Given the description of an element on the screen output the (x, y) to click on. 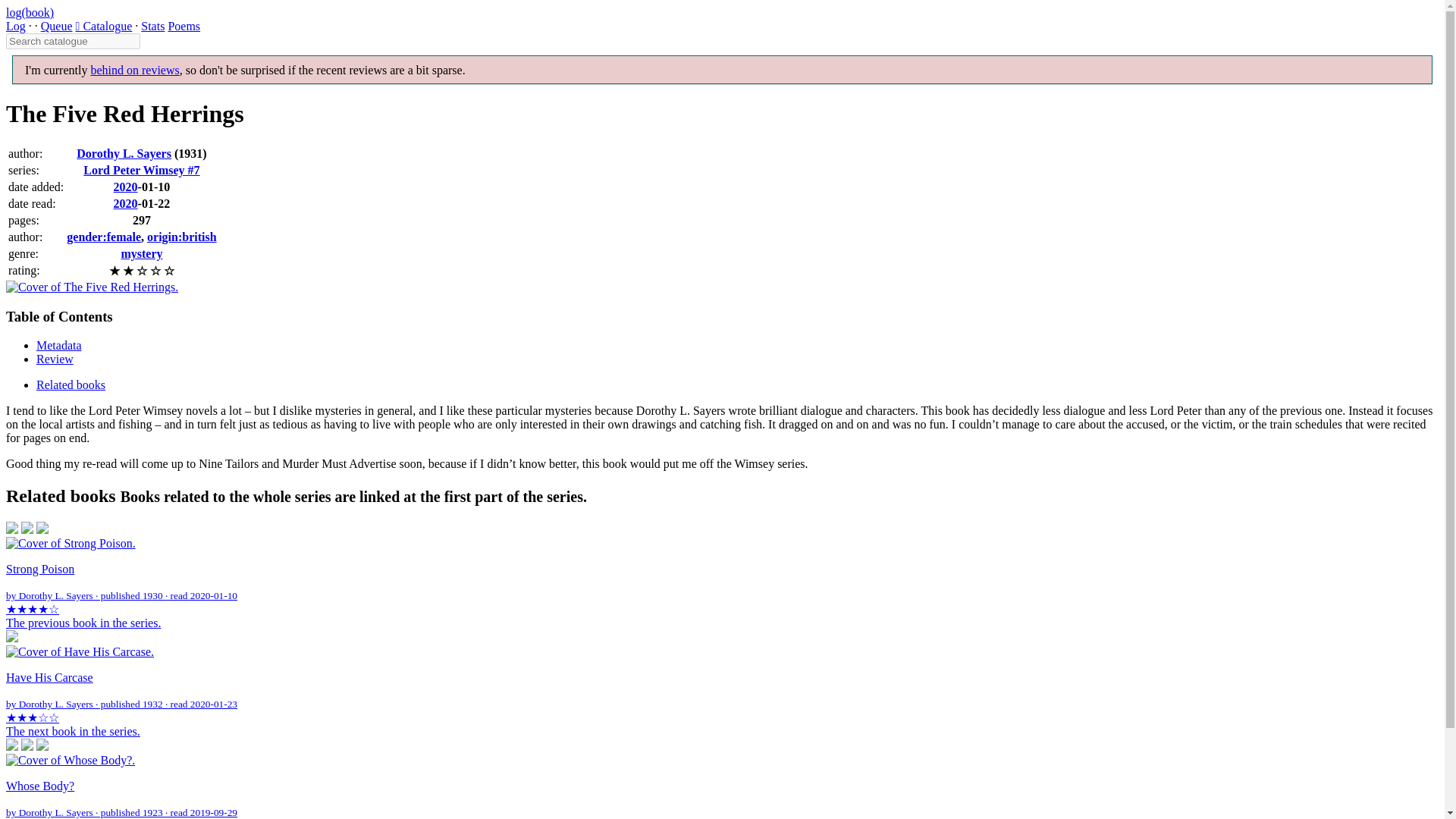
origin:british (181, 236)
Poems (183, 25)
gender:female (103, 236)
mystery (140, 253)
Review (55, 358)
Metadata (58, 345)
2020 (125, 203)
2020 (125, 186)
Related books (70, 384)
Dorothy L. Sayers (124, 153)
Queue (56, 25)
Stats (152, 25)
behind on reviews (134, 69)
Log (15, 25)
